Given the description of an element on the screen output the (x, y) to click on. 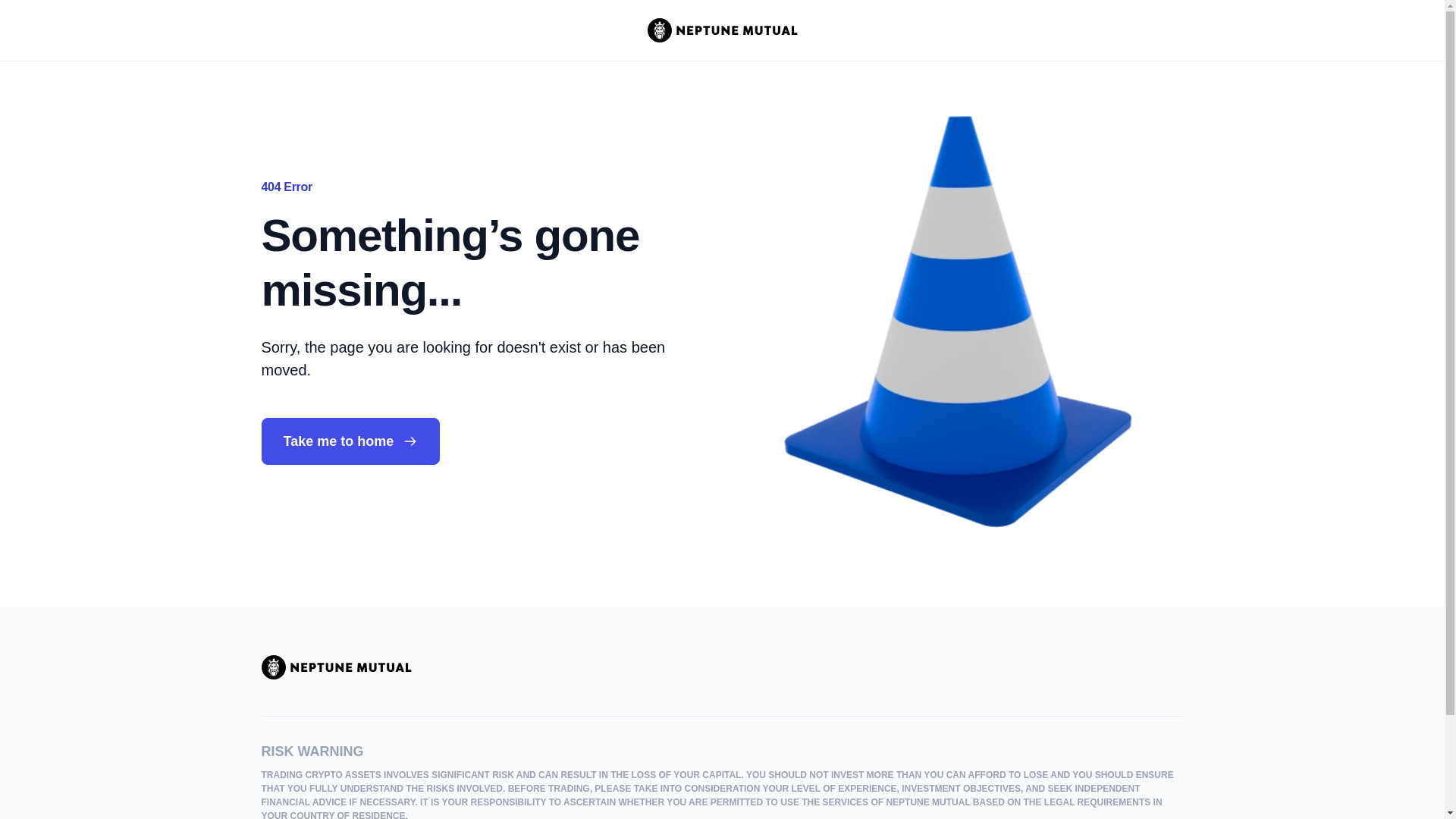
Neptune Mutual (335, 667)
Neptune Mutual (722, 30)
Take me to home (349, 441)
